Given the description of an element on the screen output the (x, y) to click on. 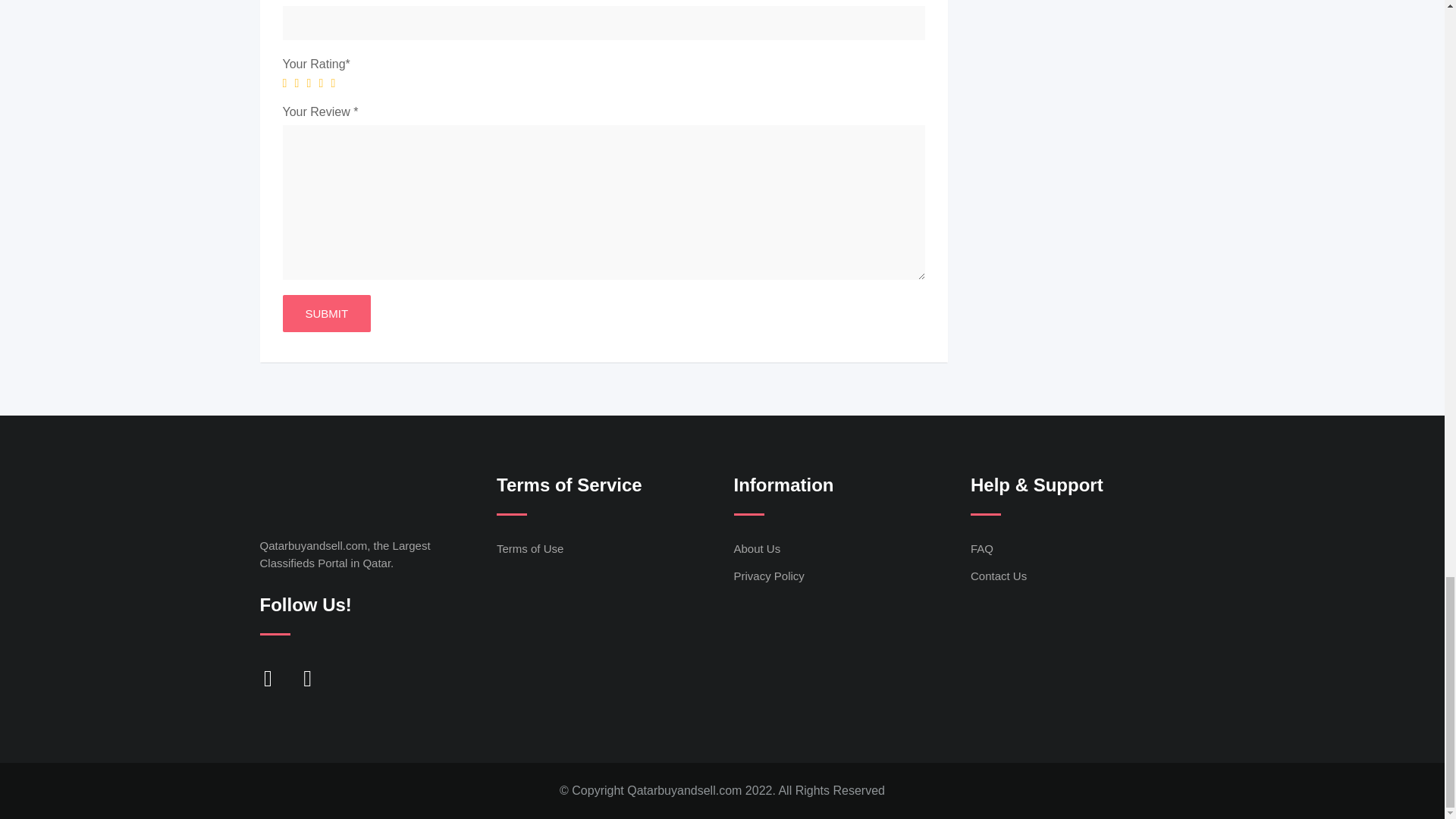
Submit (326, 313)
